Given the description of an element on the screen output the (x, y) to click on. 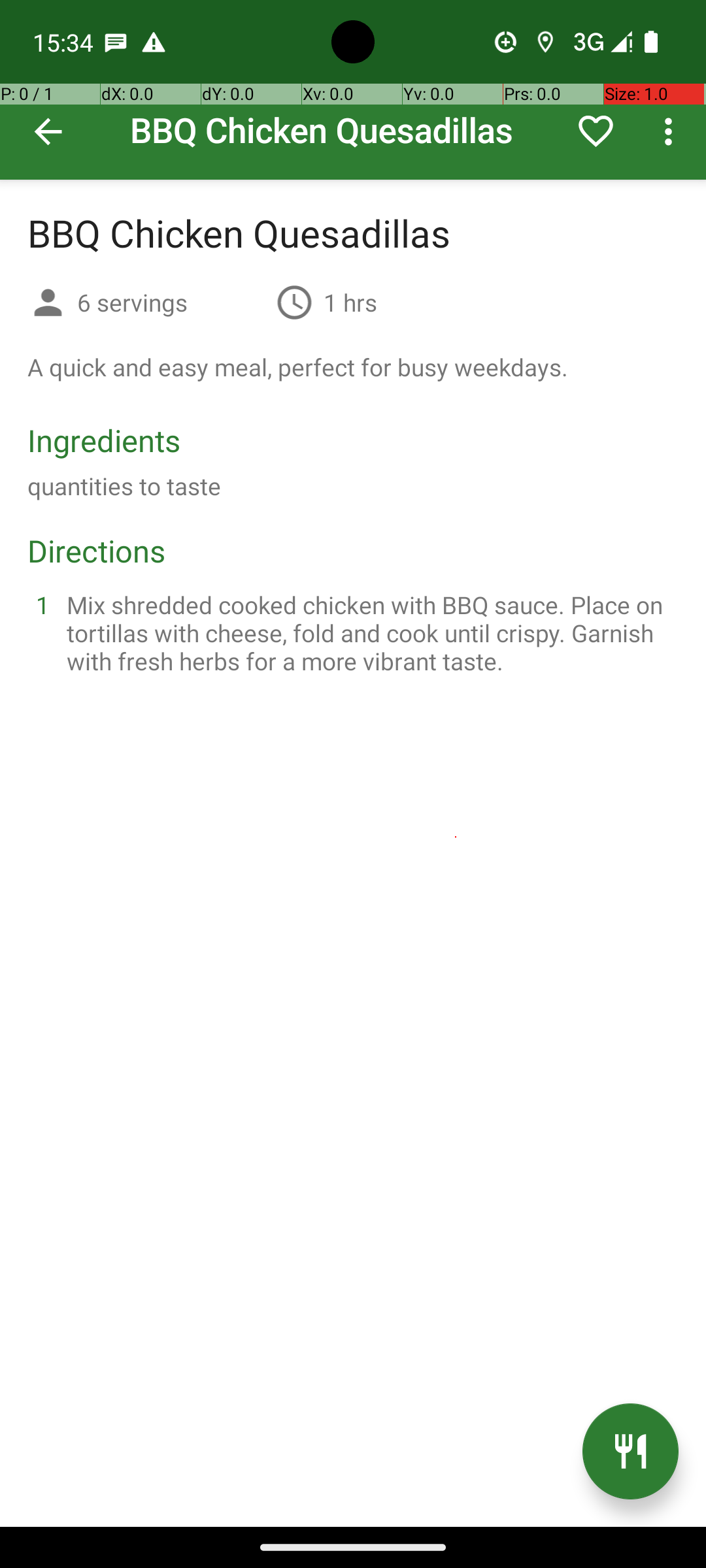
Mix shredded cooked chicken with BBQ sauce. Place on tortillas with cheese, fold and cook until crispy. Garnish with fresh herbs for a more vibrant taste. Element type: android.widget.TextView (368, 632)
